Given the description of an element on the screen output the (x, y) to click on. 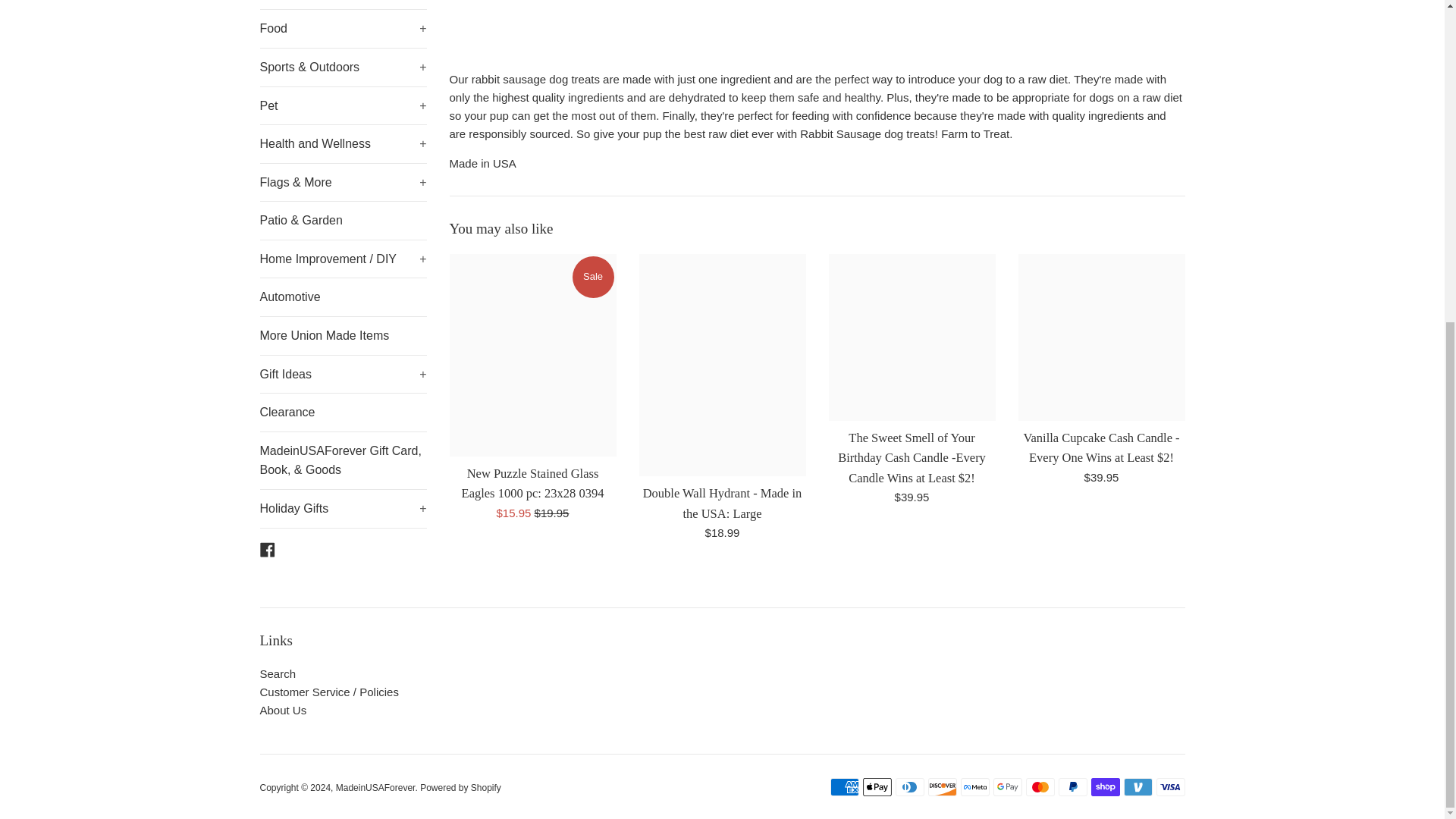
Venmo (1138, 787)
Diners Club (909, 787)
Visa (1170, 787)
Google Pay (1007, 787)
Discover (942, 787)
Meta Pay (973, 787)
Apple Pay (877, 787)
Mastercard (1039, 787)
American Express (844, 787)
Shop Pay (1104, 787)
